Given the description of an element on the screen output the (x, y) to click on. 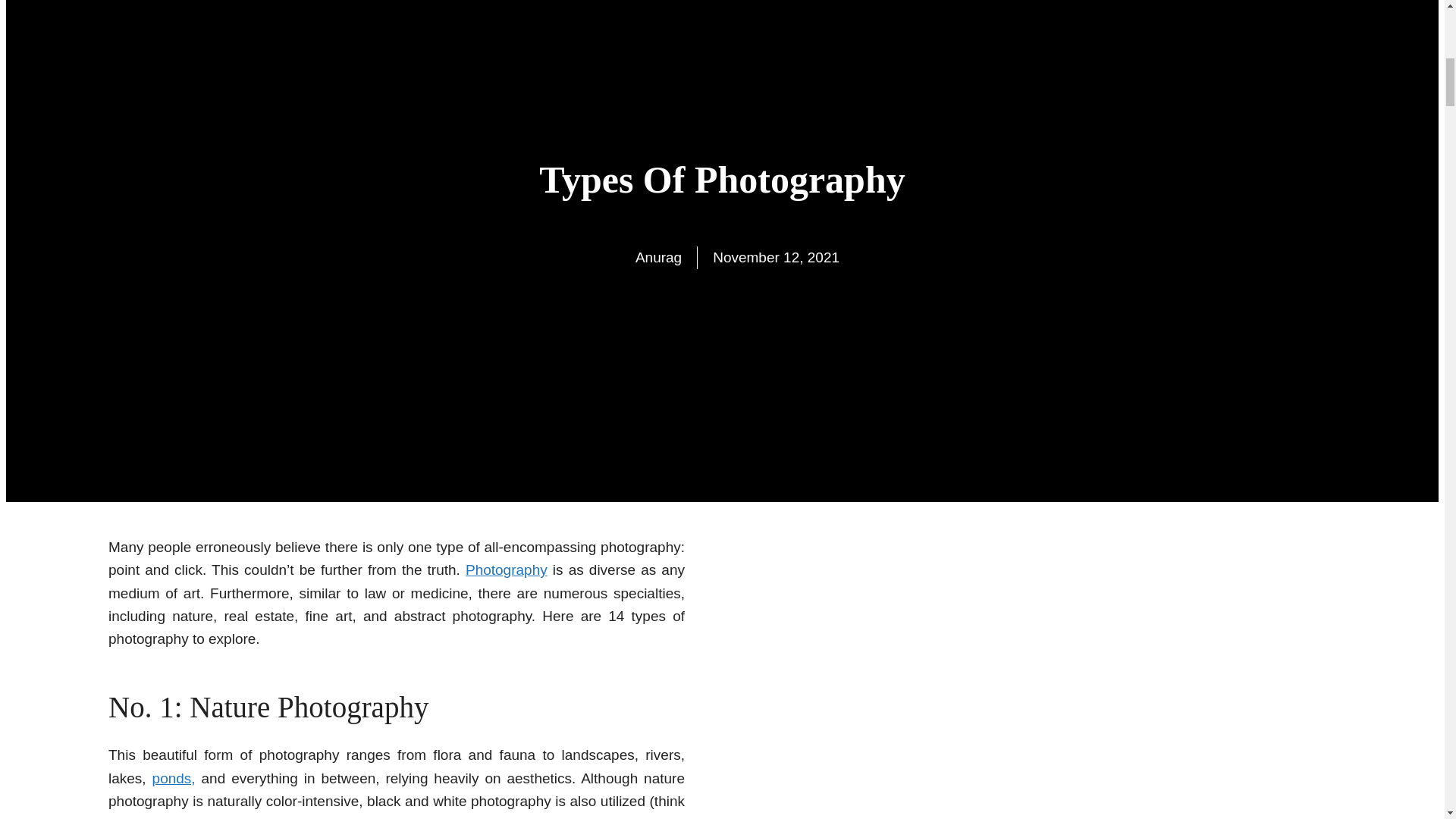
Photography (506, 569)
ponds, (173, 778)
MasterClass (329, 817)
